Given the description of an element on the screen output the (x, y) to click on. 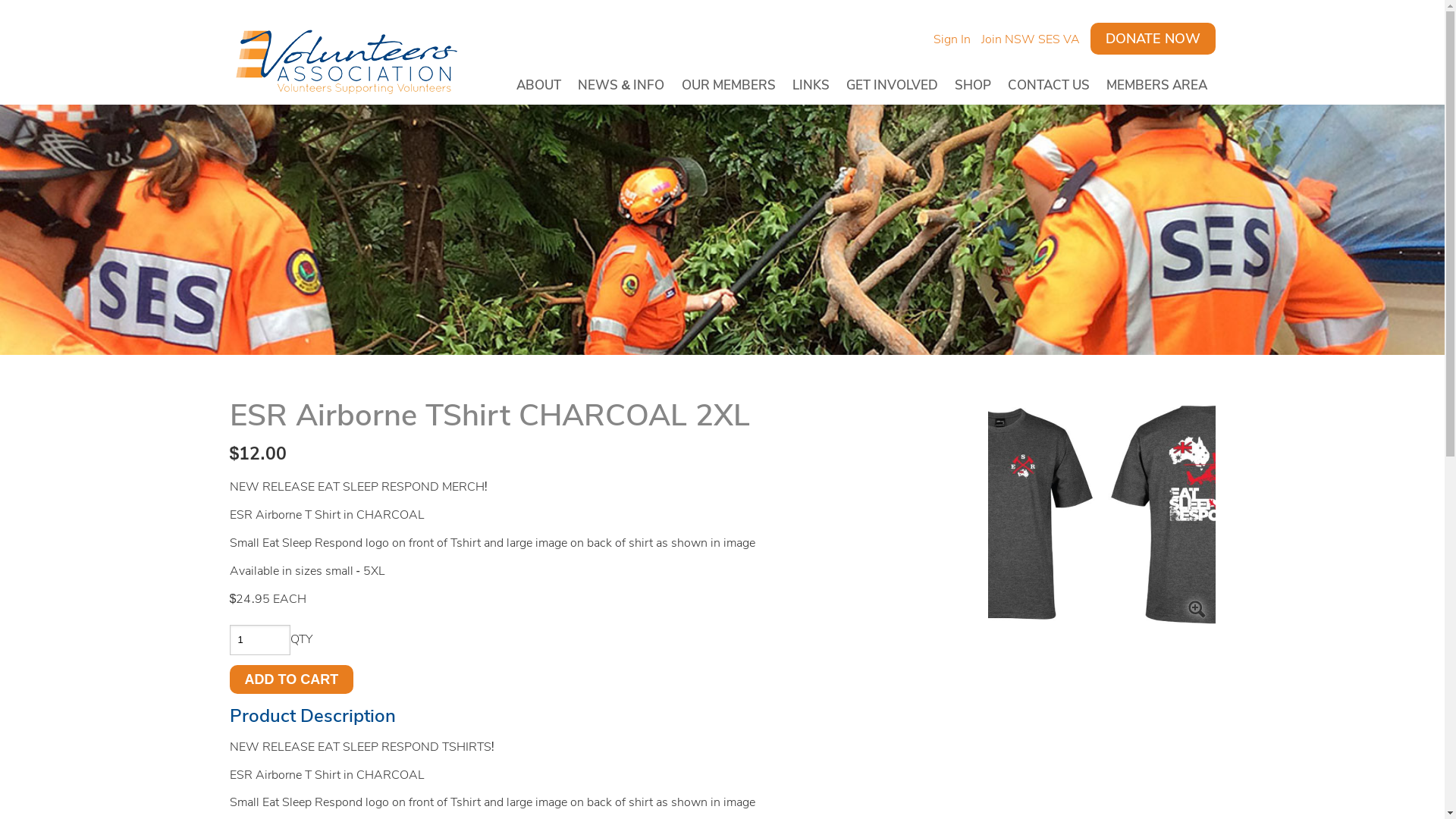
SHOP Element type: text (972, 86)
DONATE NOW Element type: text (1152, 38)
Sign In Element type: text (954, 39)
CONTACT US Element type: text (1048, 86)
ADD TO CART Element type: text (291, 679)
GET INVOLVED Element type: text (891, 86)
NEWS & INFO Element type: text (620, 86)
ABOUT Element type: text (538, 86)
MEMBERS AREA Element type: text (1156, 86)
Join NSW SES VA Element type: text (1034, 39)
LINKS Element type: text (810, 86)
OUR MEMBERS Element type: text (728, 86)
NSW SES Volunteers Association Store Element type: hover (342, 58)
